Given the description of an element on the screen output the (x, y) to click on. 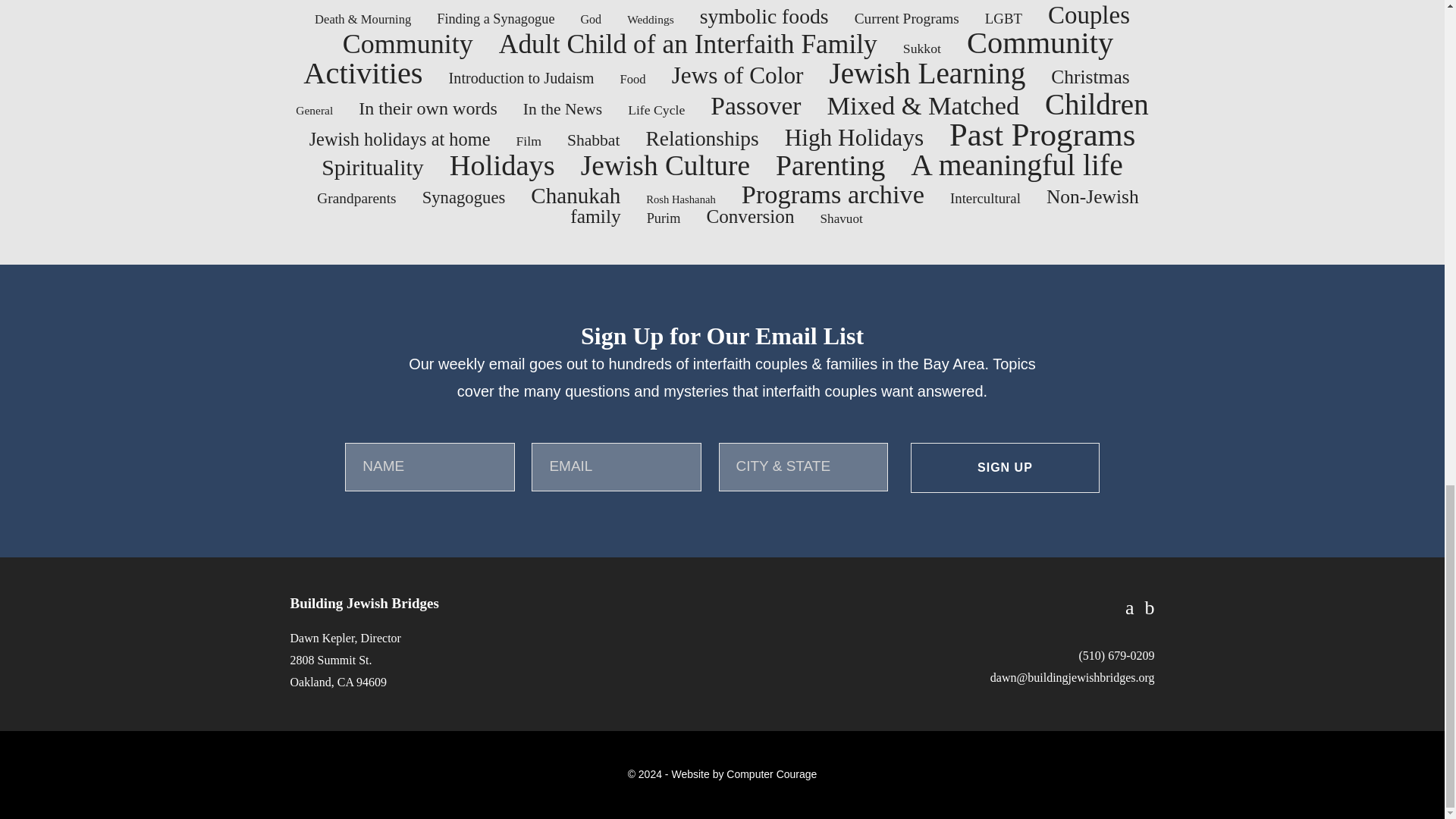
God (590, 19)
Adult Child of an Interfaith Family (688, 43)
Current Programs (906, 18)
Couples (1088, 14)
Sukkot (921, 48)
LGBT (1003, 18)
Introduction to Judaism (521, 77)
Community Activities (707, 57)
Community (407, 43)
Finding a Synagogue (495, 18)
Food (633, 79)
Weddings (650, 19)
symbolic foods (764, 15)
Sign Up (1005, 468)
